Given the description of an element on the screen output the (x, y) to click on. 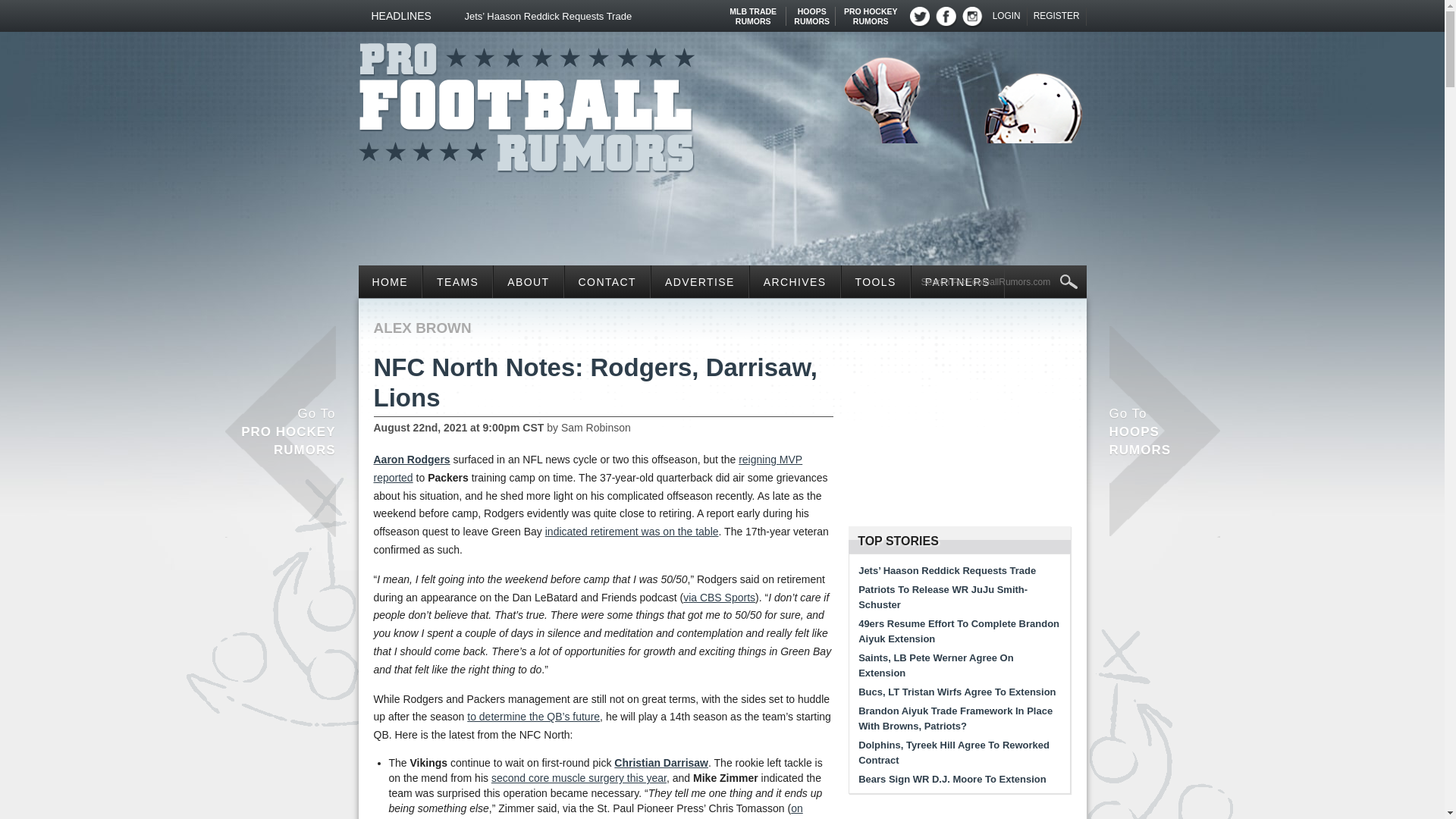
LOGIN (1007, 16)
TEAMS (753, 11)
REGISTER (870, 11)
Pro Football Rumors (457, 281)
HOME (1056, 16)
Search for: (526, 103)
Search (390, 281)
